Given the description of an element on the screen output the (x, y) to click on. 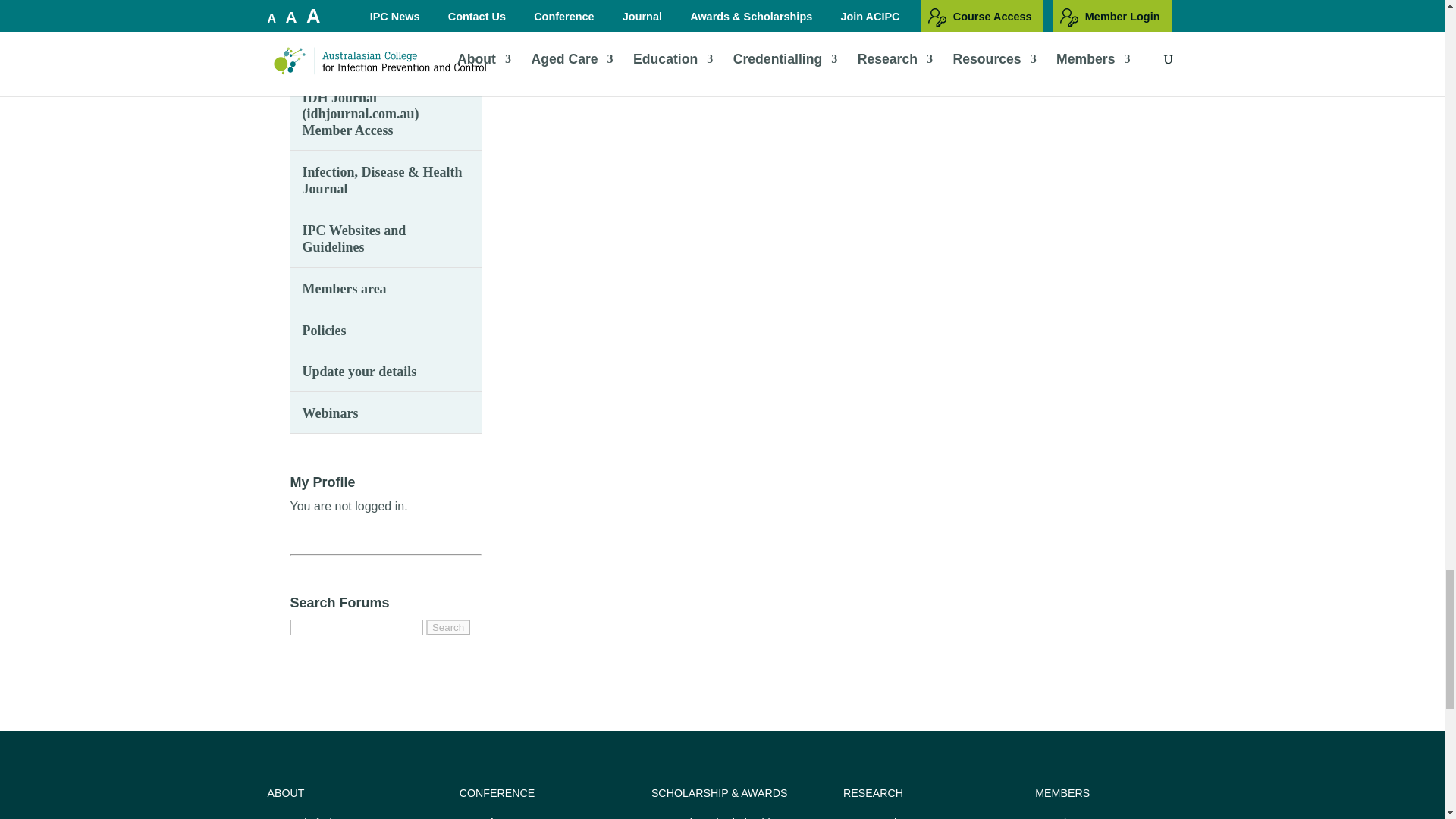
Search (448, 627)
